Given the description of an element on the screen output the (x, y) to click on. 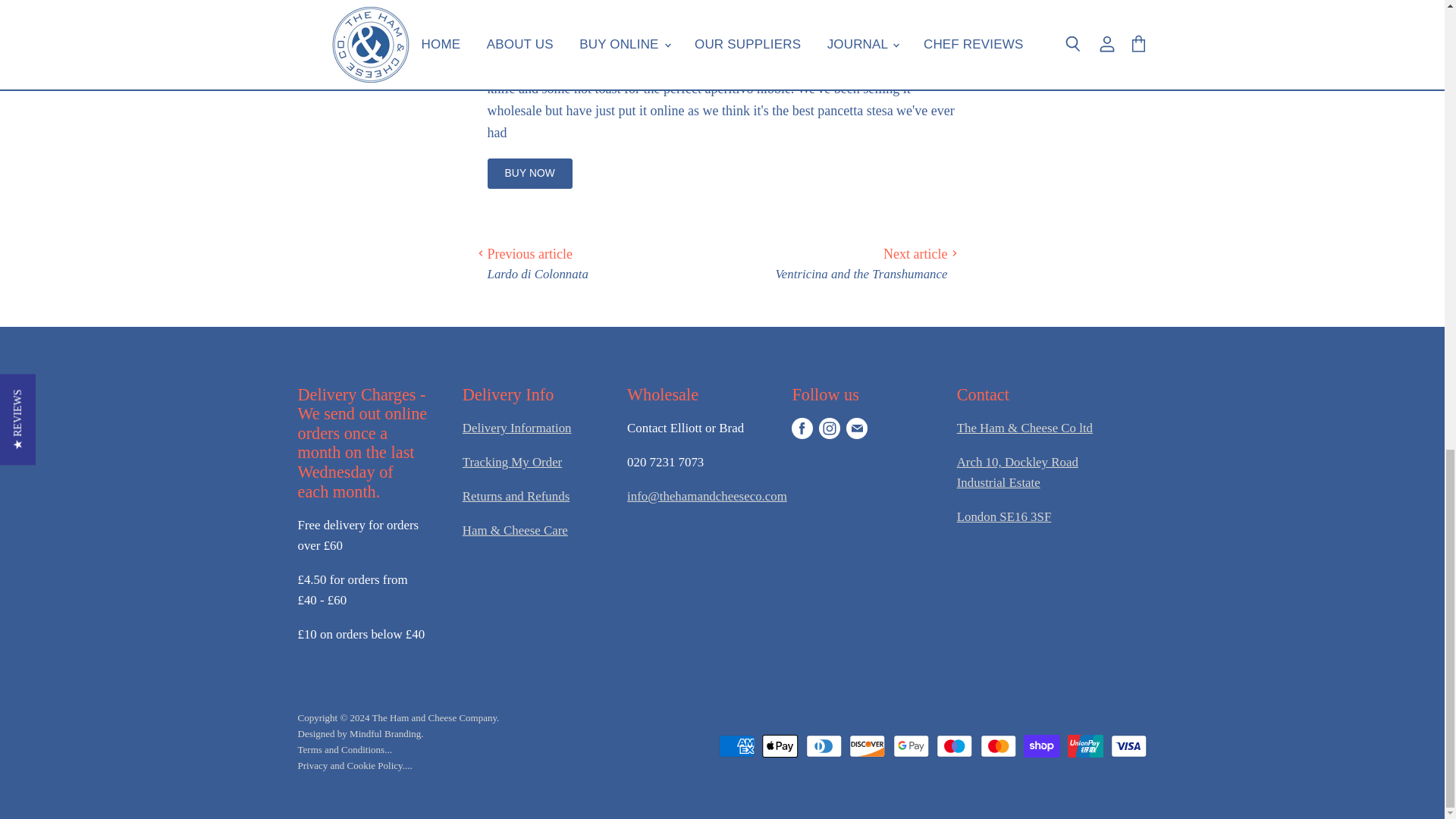
Privacy and Cookie Policy (354, 765)
Facebook (802, 428)
Cheese and Salumi Care (515, 530)
Instagram (829, 428)
Contact Us (1024, 427)
Delivery Details (517, 427)
Returns and Refunds (516, 495)
Contact Us (707, 495)
Contact Us (1017, 472)
Tracking My Order (512, 462)
Terms and Conditions (344, 749)
E-mail (856, 428)
Contact Us (1003, 516)
